Given the description of an element on the screen output the (x, y) to click on. 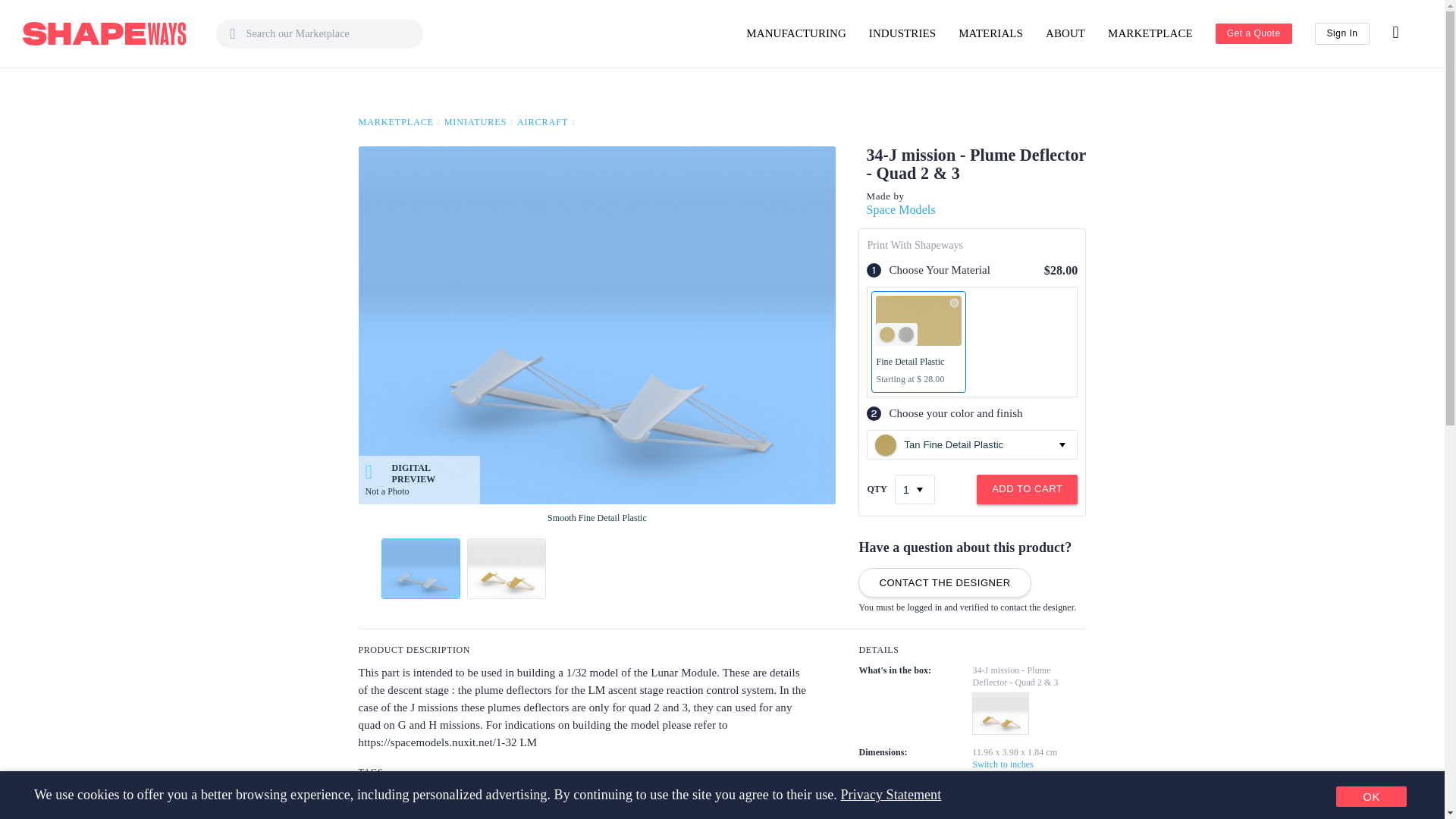
Tan Fine Detail Plastic (885, 444)
Fine Detail Plastic (918, 342)
Fine Detail Plastic (954, 302)
